Given the description of an element on the screen output the (x, y) to click on. 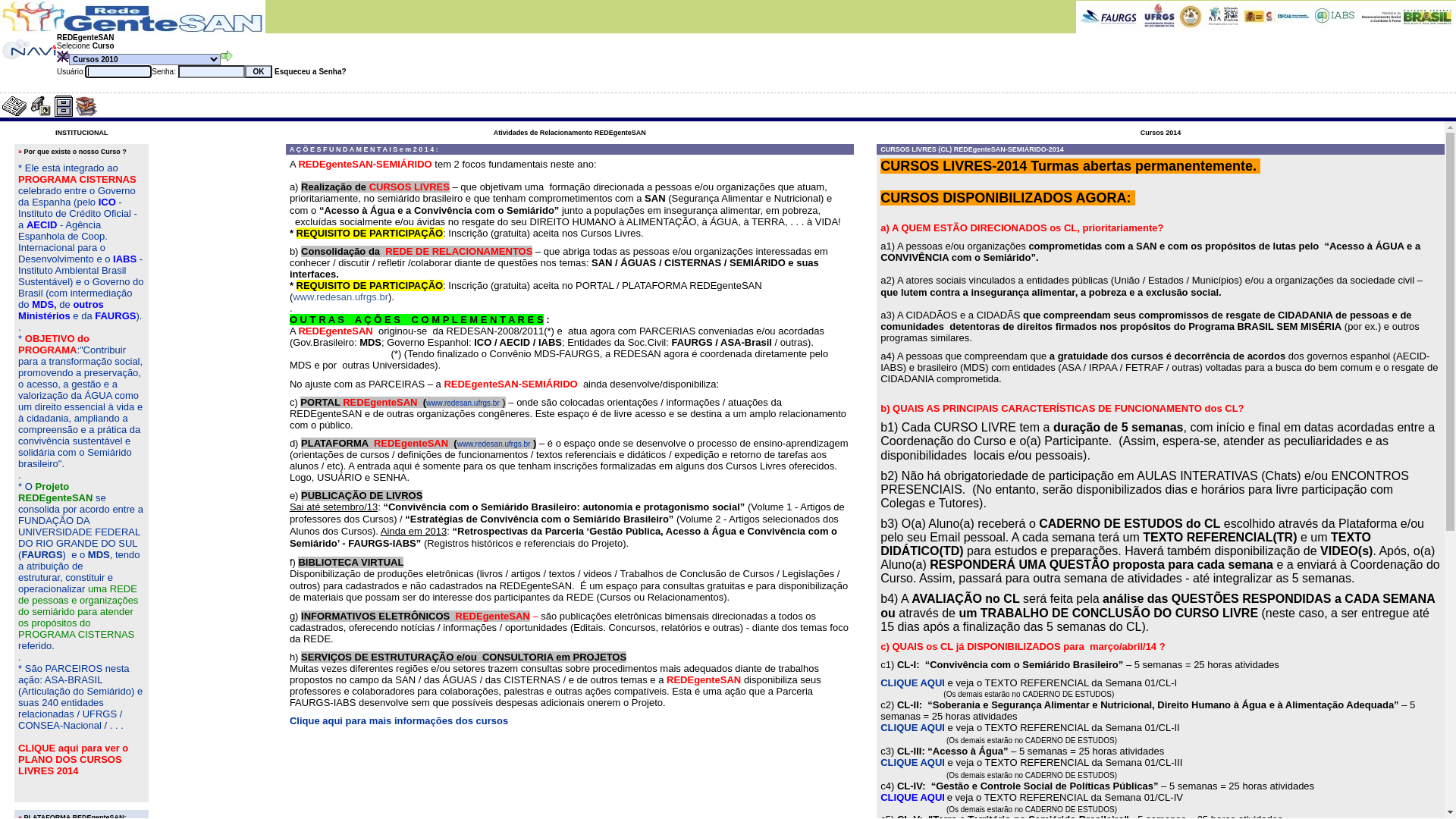
Biblioteca Virtual da REDESAN Element type: hover (86, 105)
Esqueceu a Senha? Element type: text (308, 71)
